Given the description of an element on the screen output the (x, y) to click on. 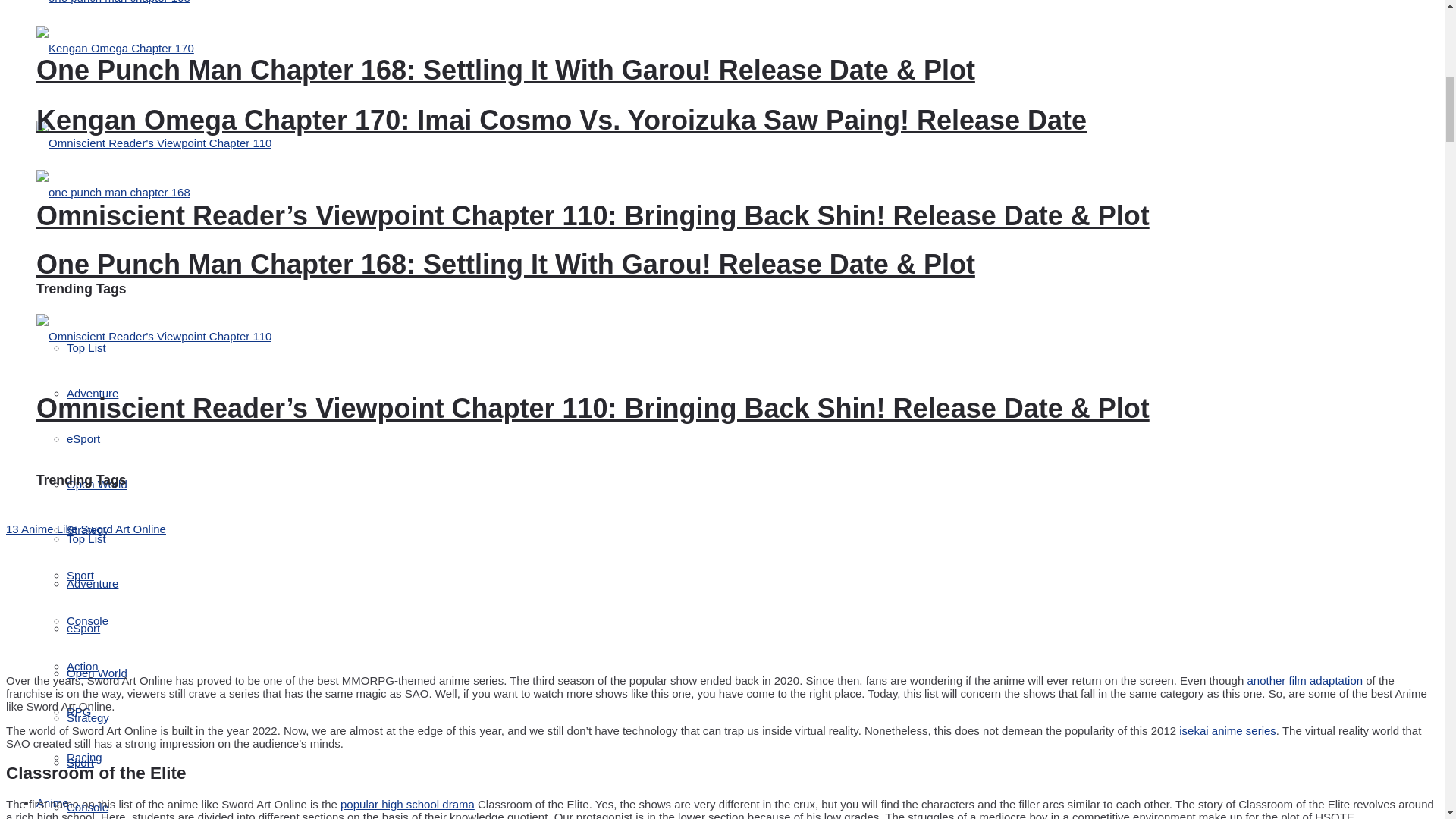
Sport (80, 574)
Console (86, 620)
Action (82, 666)
eSport (83, 438)
Strategy (87, 529)
Racing (83, 757)
Anime (52, 802)
Adventure (91, 392)
RPG (78, 711)
Open World (97, 483)
